Given the description of an element on the screen output the (x, y) to click on. 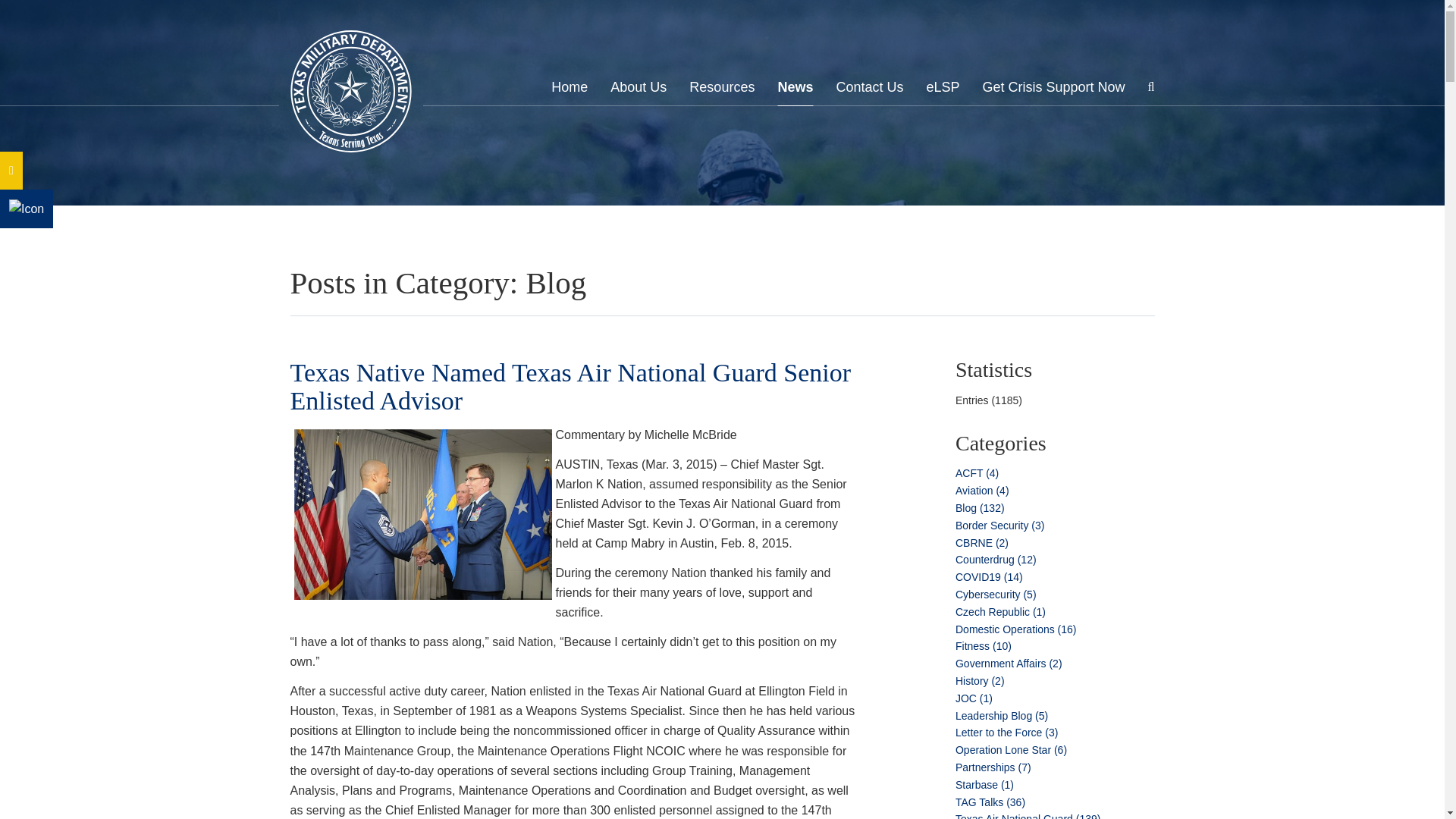
Resources (721, 91)
News (794, 91)
Home (569, 91)
eLSP (942, 91)
Get Crisis Support Now (1053, 91)
Contact Us (868, 91)
About Us (638, 91)
